Given the description of an element on the screen output the (x, y) to click on. 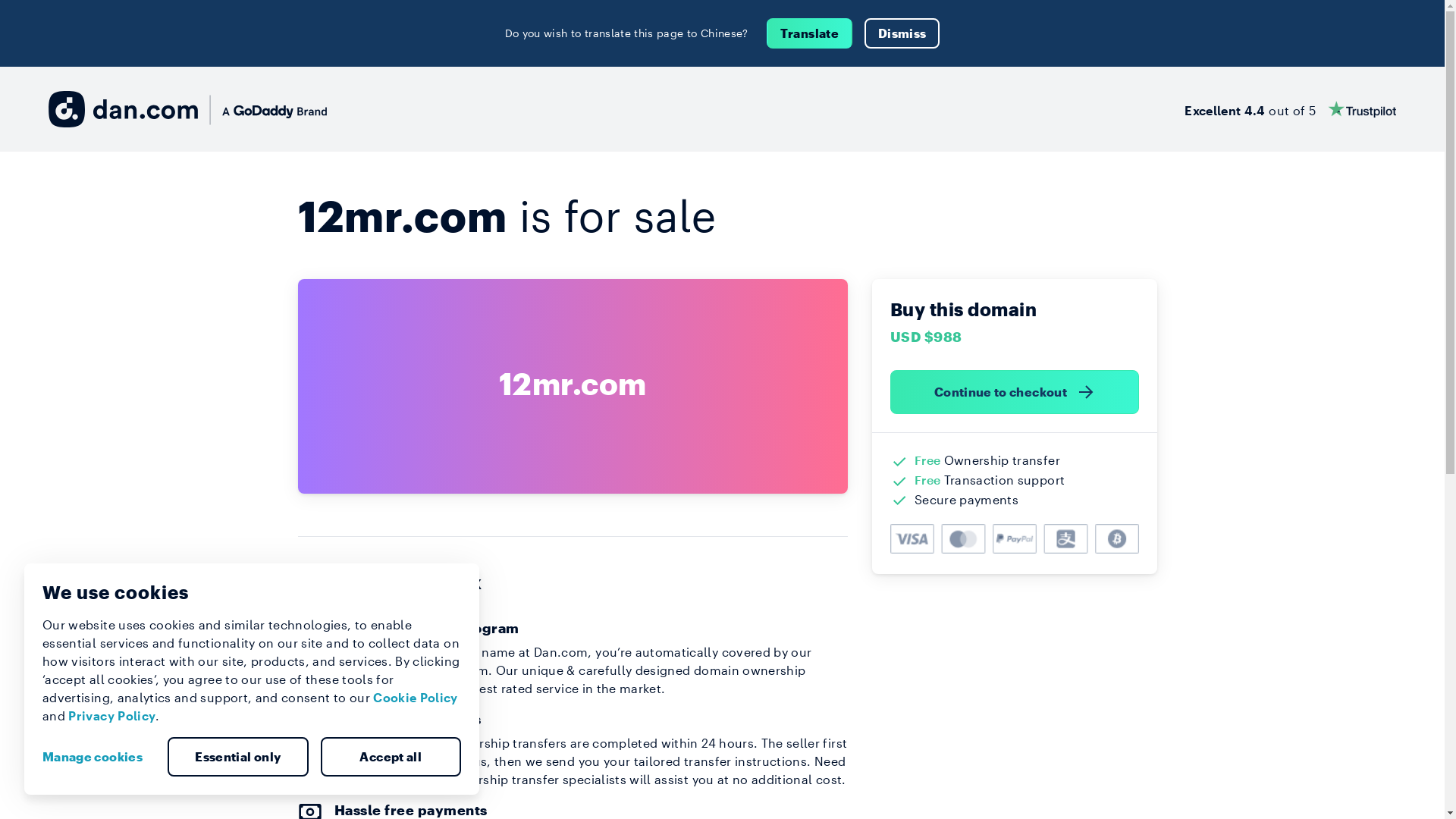
Privacy Policy Element type: text (111, 715)
Manage cookies Element type: text (98, 756)
Dismiss Element type: text (901, 33)
Continue to checkout
) Element type: text (1014, 392)
Cookie Policy Element type: text (415, 697)
Translate Element type: text (809, 33)
Essential only Element type: text (237, 756)
Excellent 4.4 out of 5 Element type: text (1290, 109)
Accept all Element type: text (390, 756)
